Given the description of an element on the screen output the (x, y) to click on. 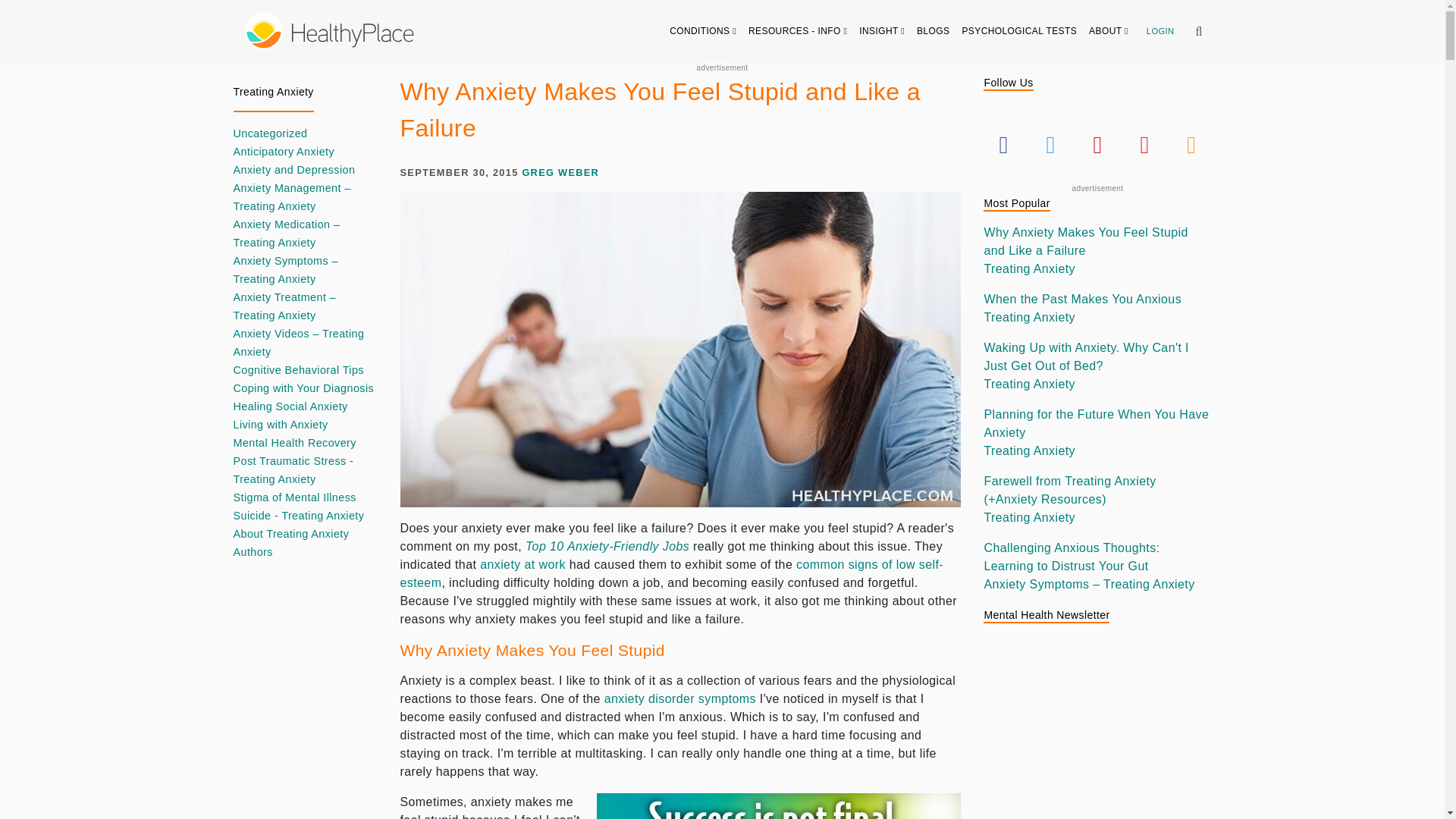
Why Anxiety Makes You Feel Stupid and Like a Failure (778, 806)
CONDITIONS (702, 31)
Anxiety Disorder Symptoms, Anxiety Disorder Signs (679, 698)
Top 10 Anxiety-Friendly Jobs (606, 545)
RESOURCES - INFO (797, 31)
Anxiety at Work - Stress in the Workplace (523, 563)
INSIGHT (882, 31)
Common Signs of Low Self-Esteem (671, 572)
